Given the description of an element on the screen output the (x, y) to click on. 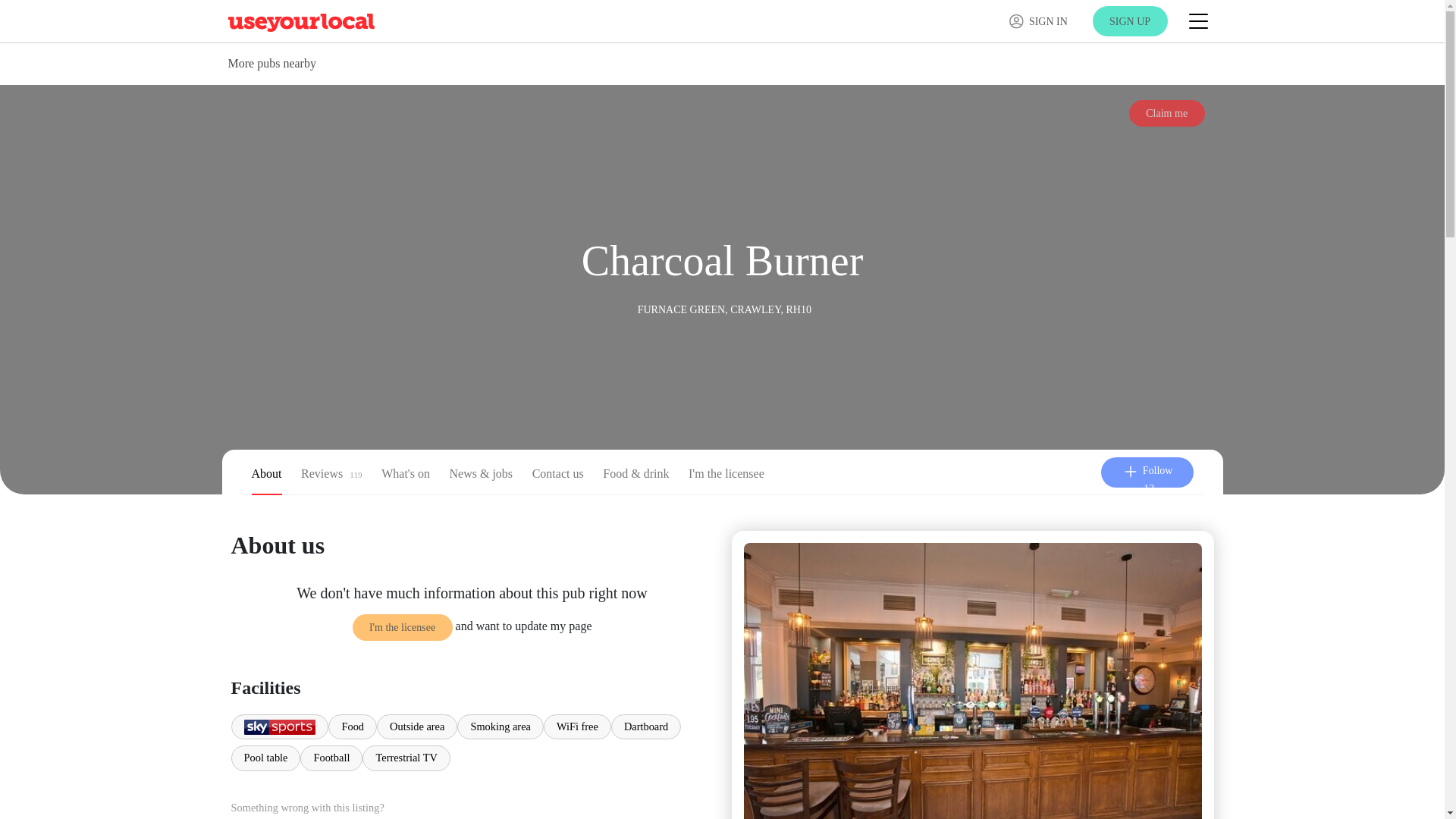
FURNACE GREEN, CRAWLEY, RH10 (723, 308)
Charcoal Burner has a dartboard (646, 726)
Claim me (1167, 112)
SIGN IN (1037, 21)
Charcoal Burner has a smoking area (500, 726)
Location and directions (723, 308)
Contact us (557, 476)
I'm the licensee (726, 476)
I'm the licensee (401, 626)
Charcoal Burner has a pool table (264, 757)
